Given the description of an element on the screen output the (x, y) to click on. 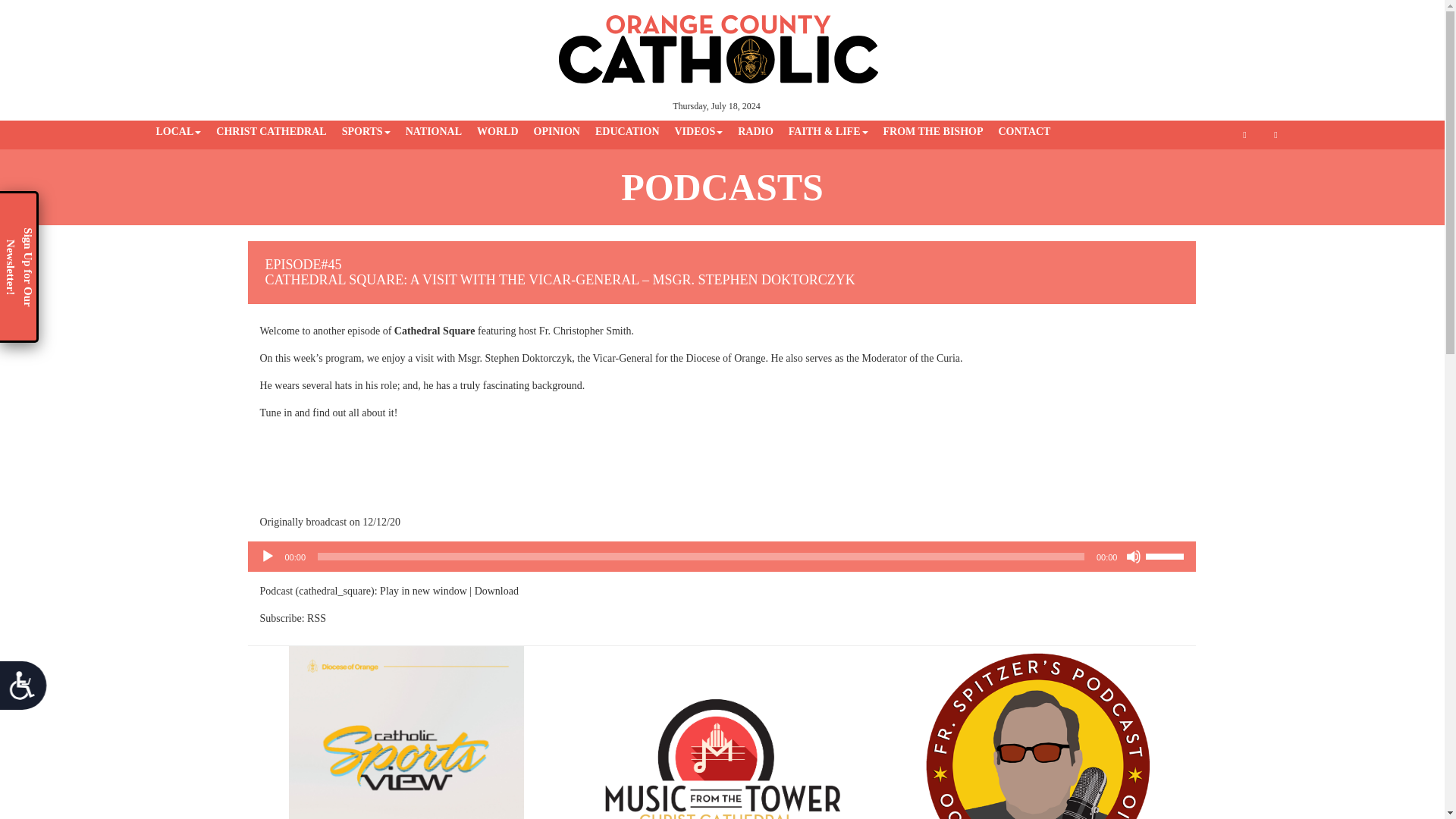
Subscribe via RSS (316, 618)
Play in new window (423, 591)
EDUCATION (627, 131)
Play in new window (423, 591)
Accessibility (29, 690)
NATIONAL (432, 131)
LOCAL (178, 131)
Play (267, 556)
WORLD (496, 131)
Mute (1133, 556)
RADIO (755, 131)
SPORTS (365, 131)
FROM THE BISHOP (932, 131)
VIDEOS (698, 131)
